Given the description of an element on the screen output the (x, y) to click on. 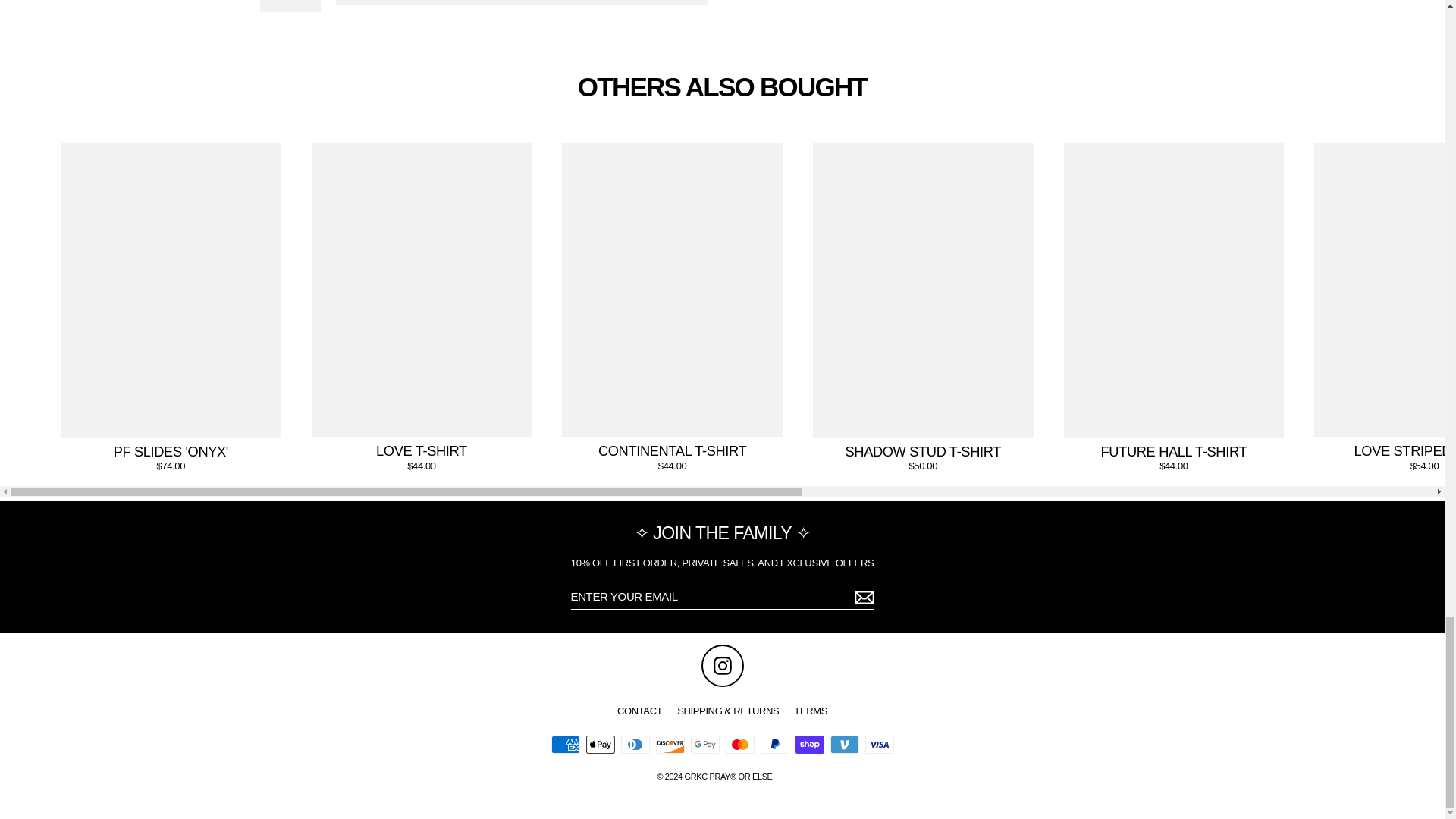
Google Pay (704, 744)
Visa (878, 744)
SUBMIT (860, 597)
Mastercard (739, 744)
Shop Pay (809, 744)
Discover (669, 744)
American Express (564, 744)
PayPal (774, 744)
Diners Club (634, 744)
Apple Pay (599, 744)
Venmo (844, 744)
